Given the description of an element on the screen output the (x, y) to click on. 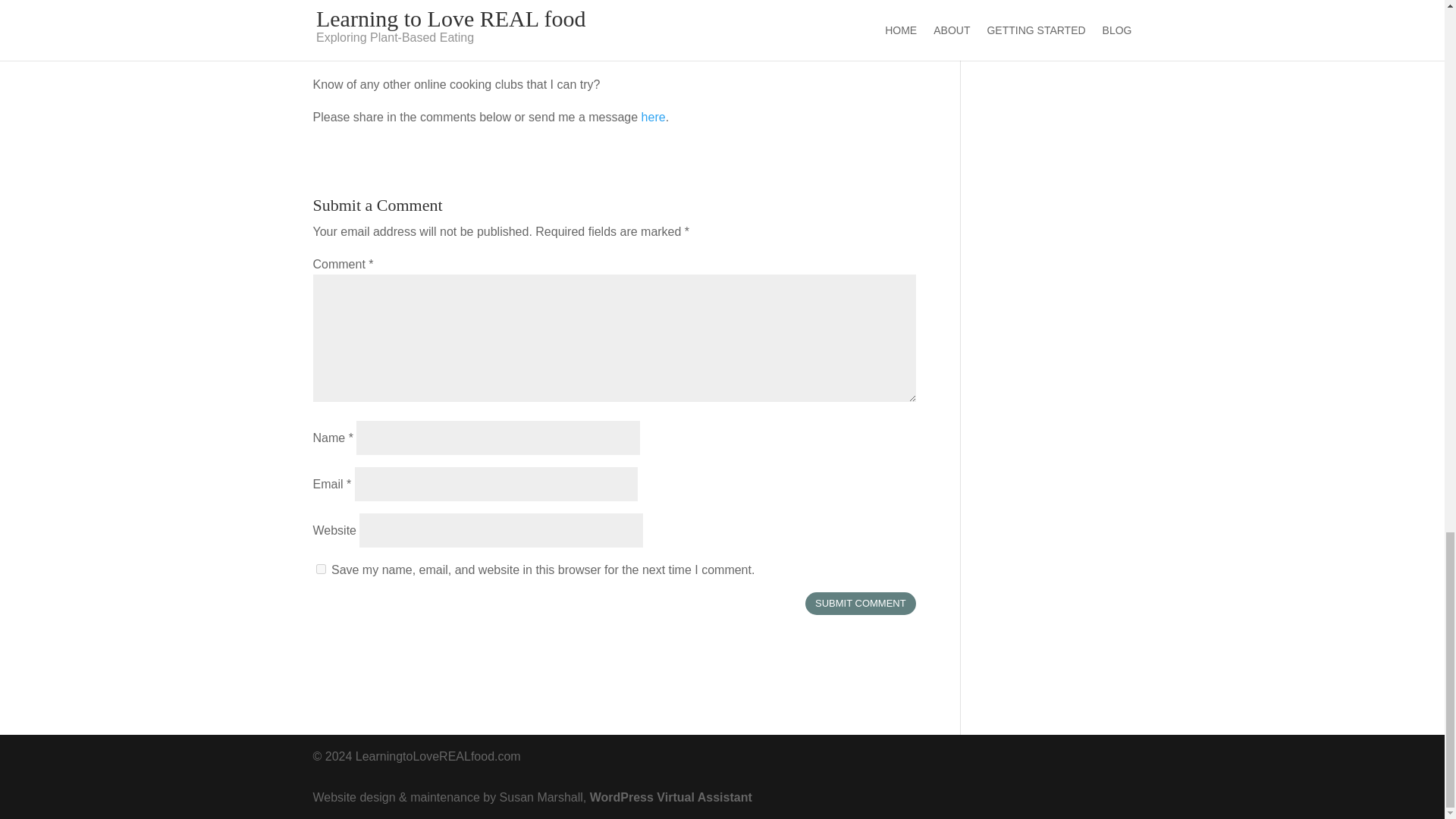
cooking club (437, 51)
here (653, 116)
Submit Comment (860, 603)
WordPress Virtual Assistant (670, 797)
Submit Comment (860, 603)
yes (319, 569)
